Given the description of an element on the screen output the (x, y) to click on. 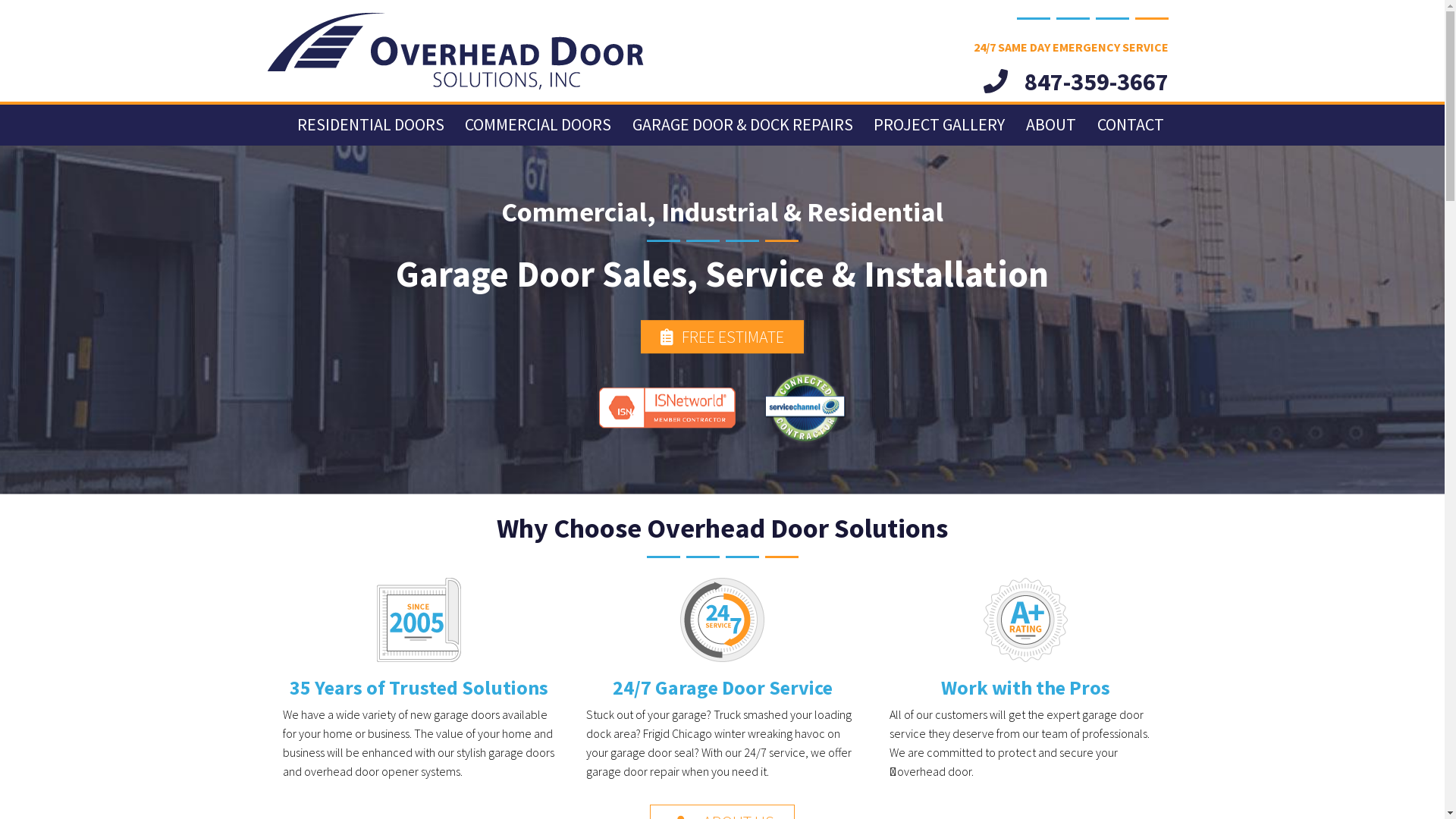
ABOUT Element type: text (1051, 123)
GARAGE DOOR & DOCK REPAIRS Element type: text (742, 123)
CONTACT Element type: text (1129, 123)
847-359-3667 Element type: text (1075, 81)
FREE ESTIMATE Element type: text (721, 336)
PROJECT GALLERY Element type: text (938, 123)
RESIDENTIAL DOORS Element type: text (370, 123)
COMMERCIAL DOORS Element type: text (537, 123)
